Given the description of an element on the screen output the (x, y) to click on. 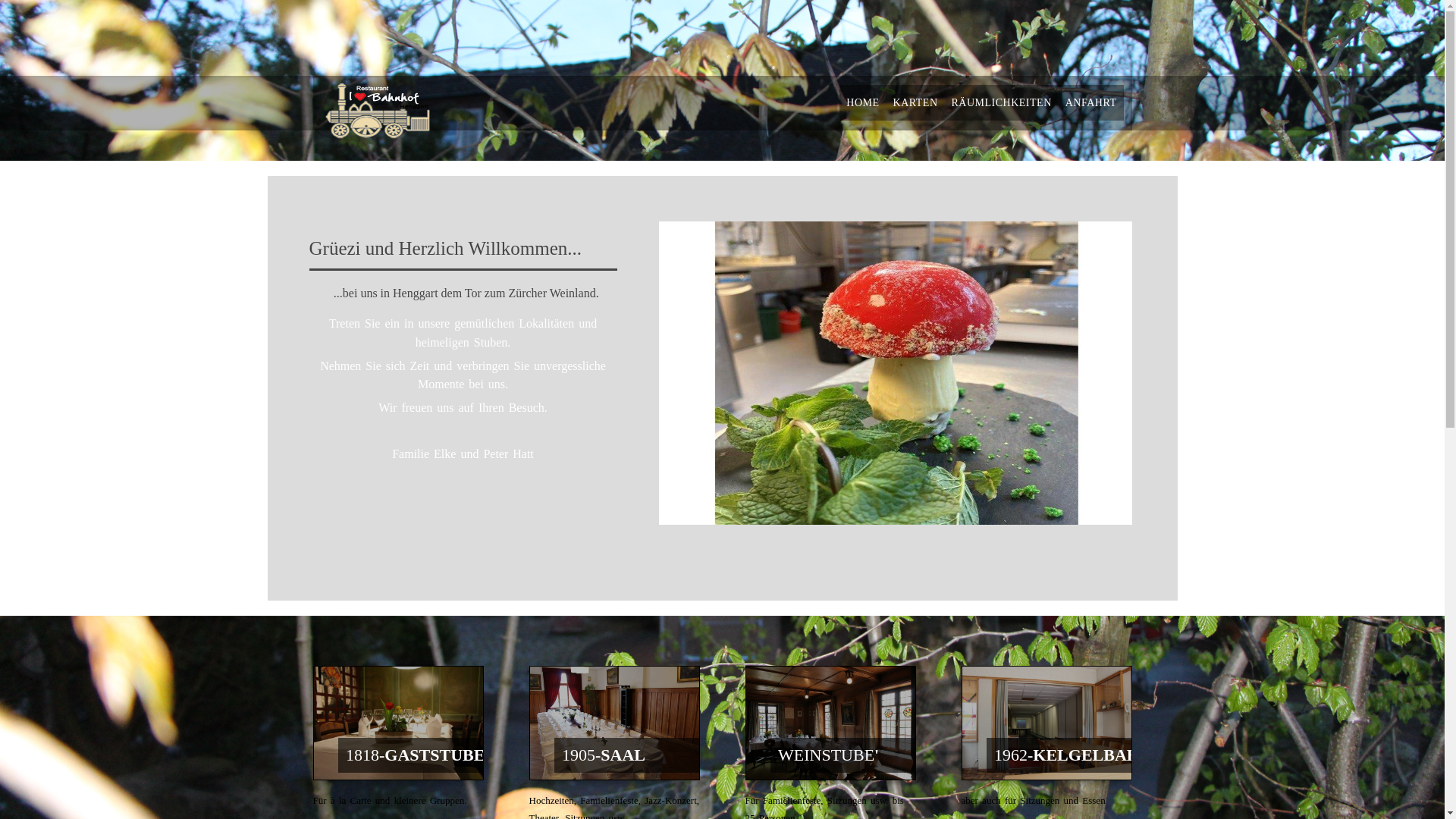
HOME Element type: text (862, 102)
ANFAHRT Element type: text (1090, 102)
KARTEN Element type: text (915, 102)
